Given the description of an element on the screen output the (x, y) to click on. 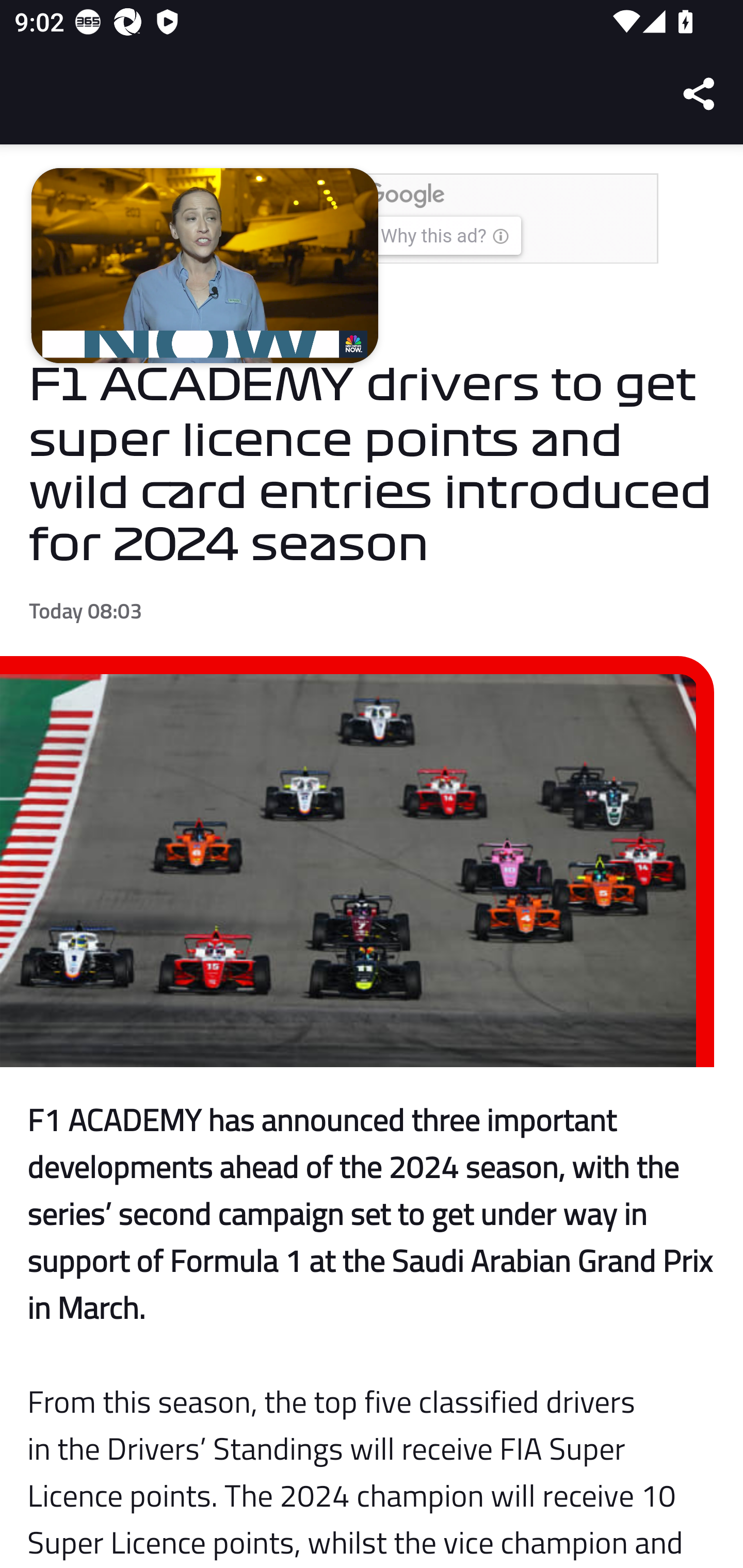
Share (699, 93)
